Given the description of an element on the screen output the (x, y) to click on. 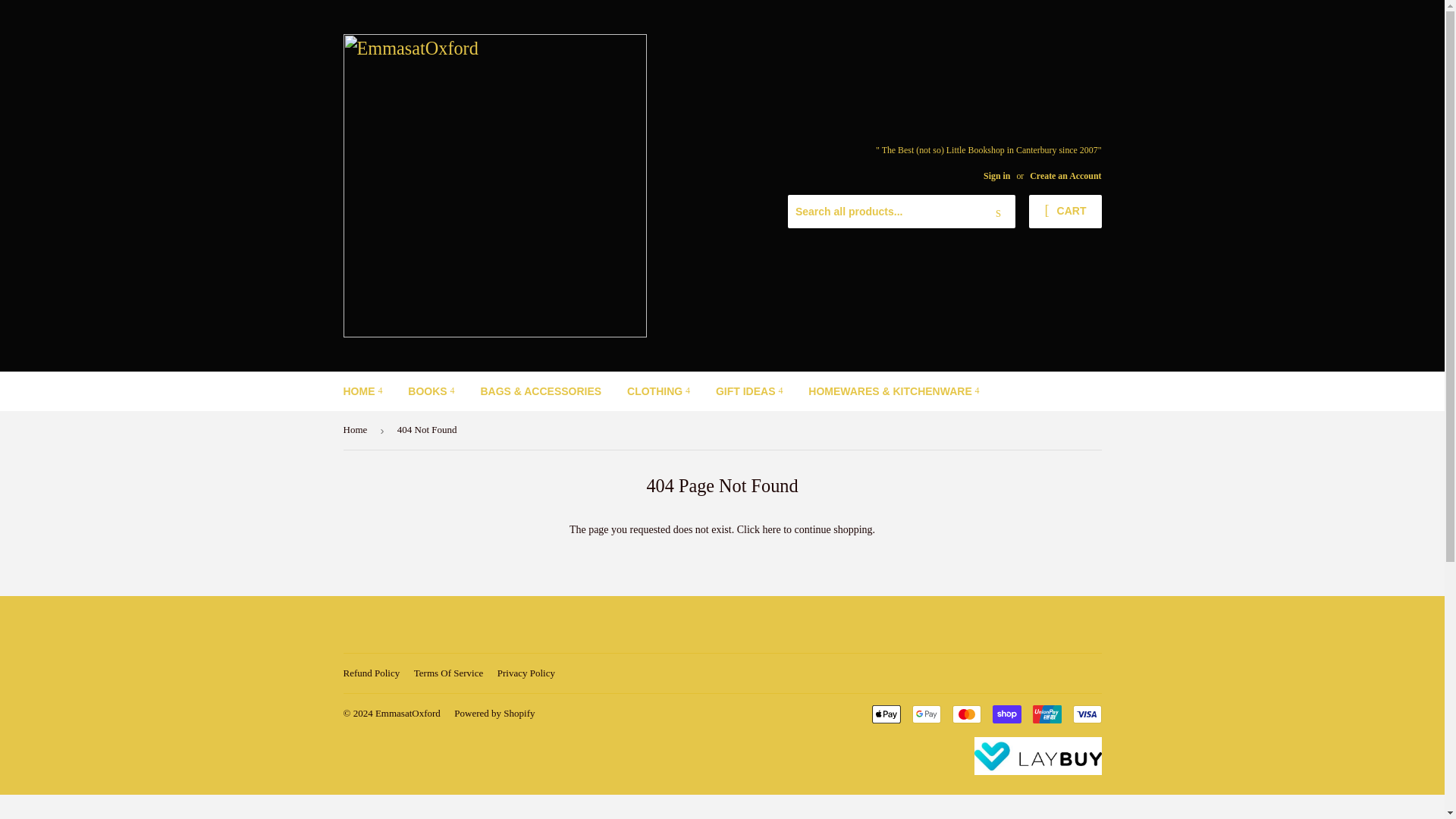
Apple Pay (886, 714)
Union Pay (1046, 714)
Mastercard (966, 714)
Visa (1085, 714)
Shop Pay (1005, 714)
Sign in (997, 175)
CART (1064, 211)
Create an Account (1064, 175)
Search (997, 212)
Google Pay (925, 714)
